Given the description of an element on the screen output the (x, y) to click on. 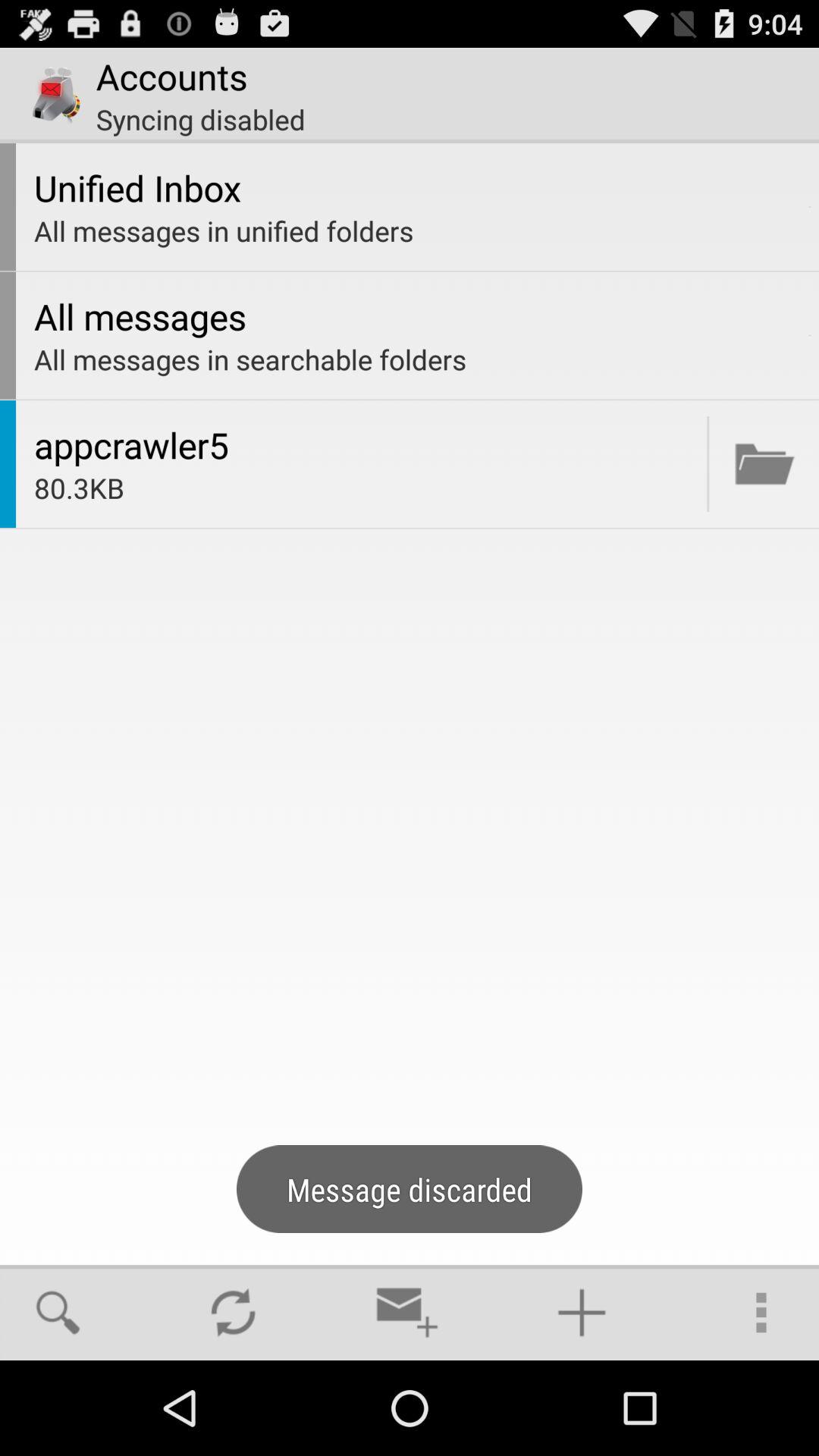
open document (764, 463)
